Given the description of an element on the screen output the (x, y) to click on. 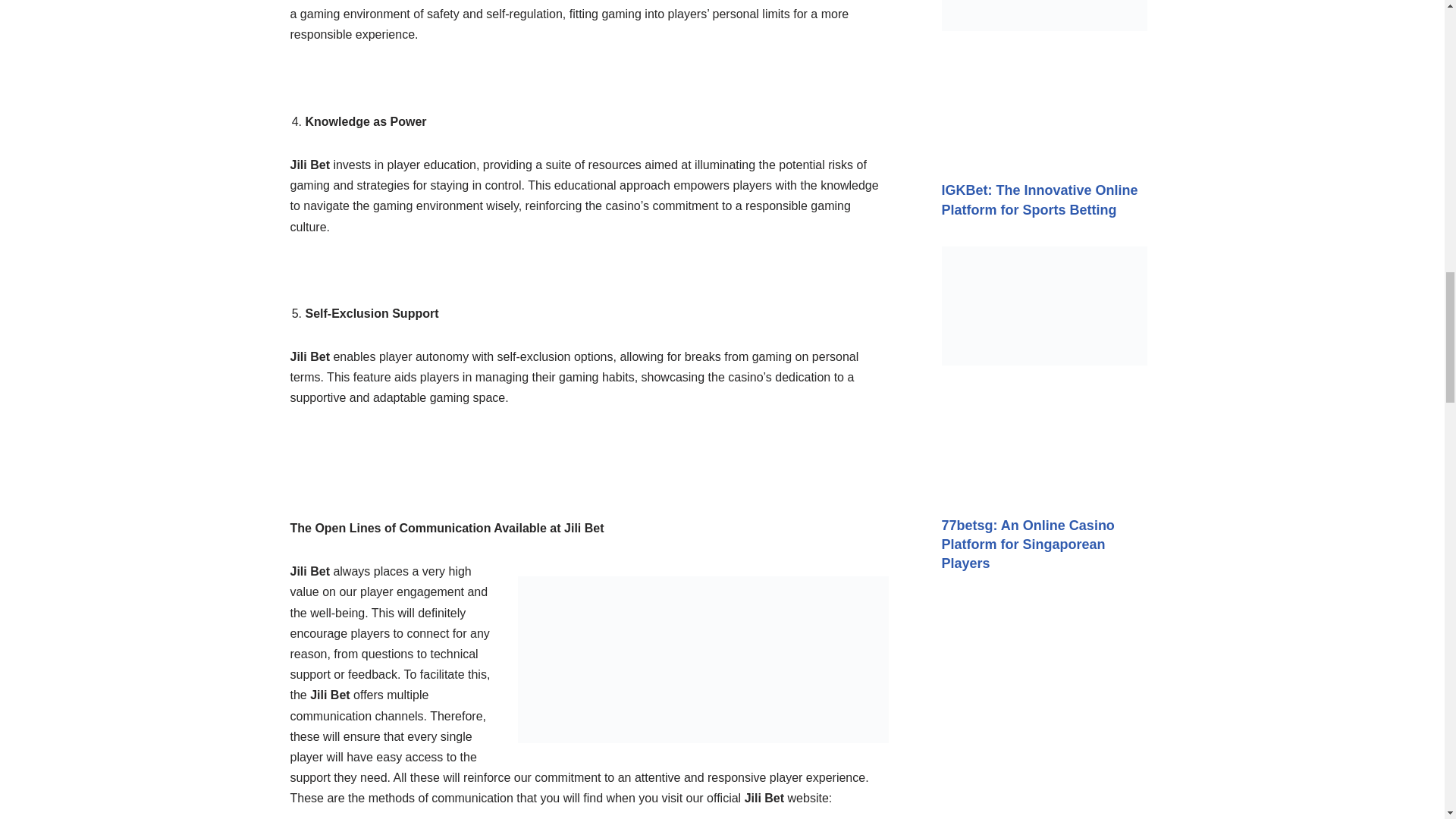
IGKBet: The Innovative Online Platform for Sports Betting (1040, 199)
